Given the description of an element on the screen output the (x, y) to click on. 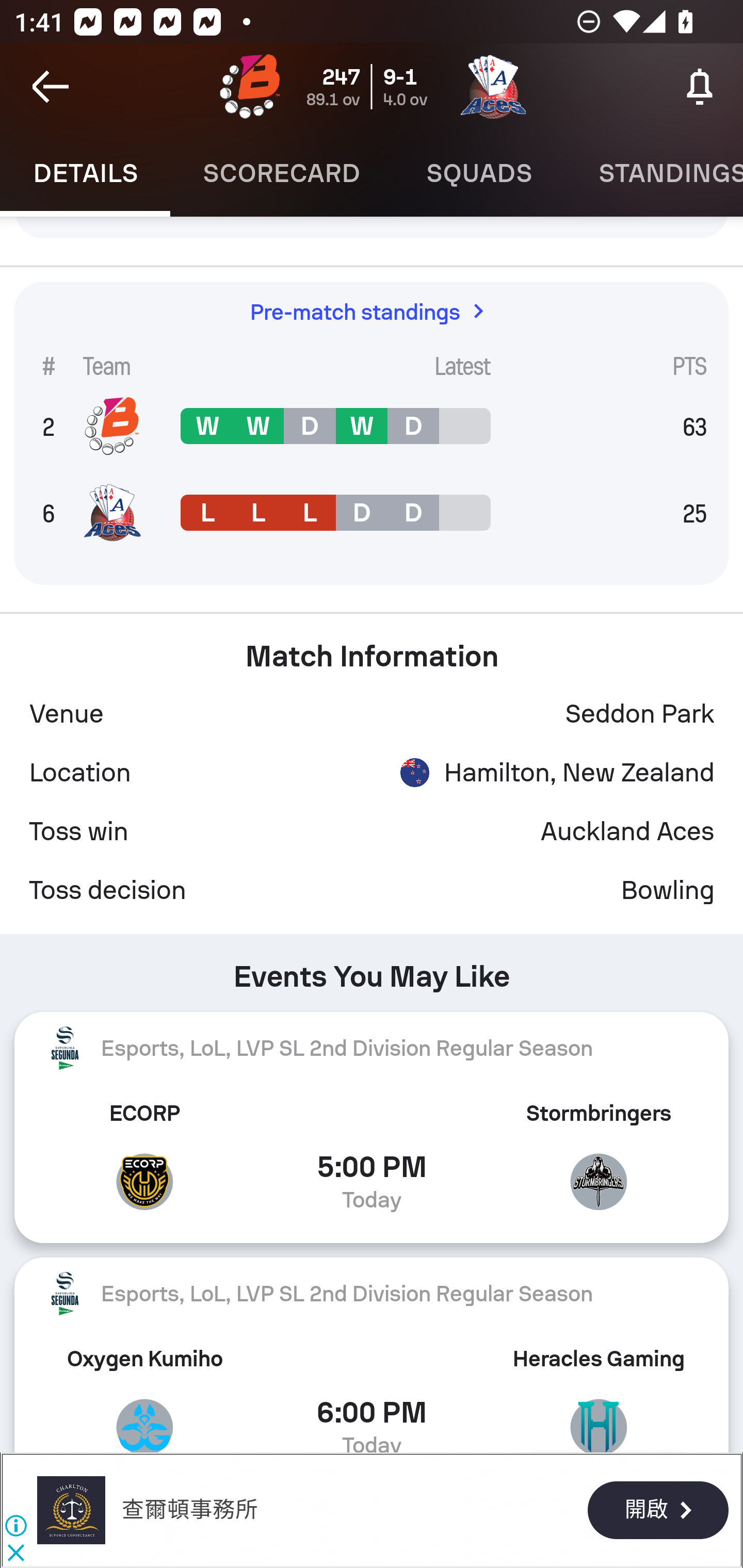
Navigate up (50, 86)
Scorecard SCORECARD (281, 173)
Squads SQUADS (479, 173)
Standings STANDINGS (654, 173)
Events You May Like (371, 969)
Esports, LoL, LVP SL 2nd Division Regular Season (371, 1047)
Esports, LoL, LVP SL 2nd Division Regular Season (371, 1293)
查爾頓離婚事務所 (71, 1509)
開啟 (657, 1511)
查爾頓事務所 (188, 1509)
